Given the description of an element on the screen output the (x, y) to click on. 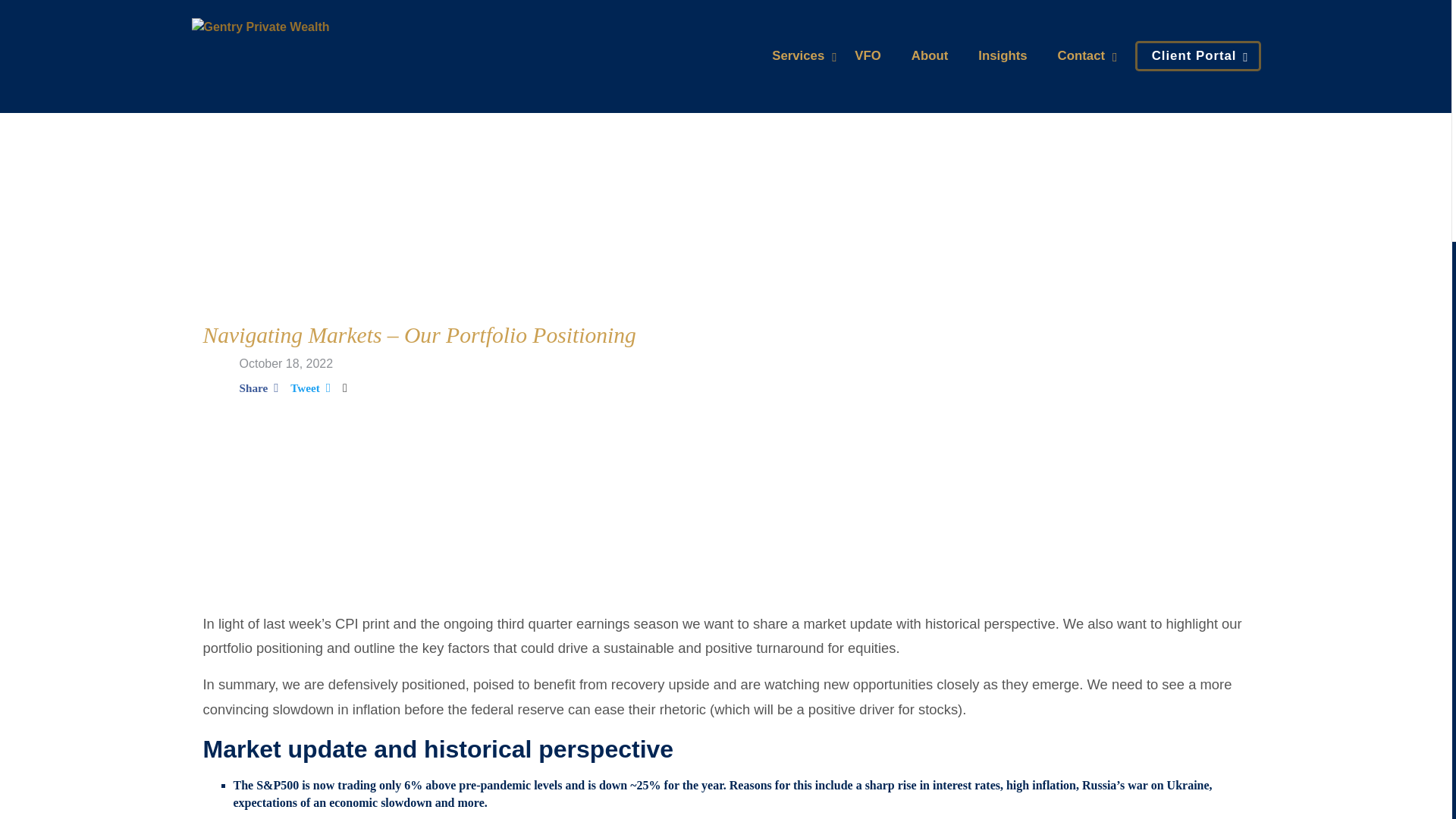
Gentry Private Wealth (259, 27)
About (929, 55)
Share (259, 386)
Share on Twitter (309, 386)
Services (797, 55)
Contact (1081, 55)
Share on Facebook (259, 386)
Client Portal (1193, 55)
Insights (1002, 55)
VFO (867, 55)
